Given the description of an element on the screen output the (x, y) to click on. 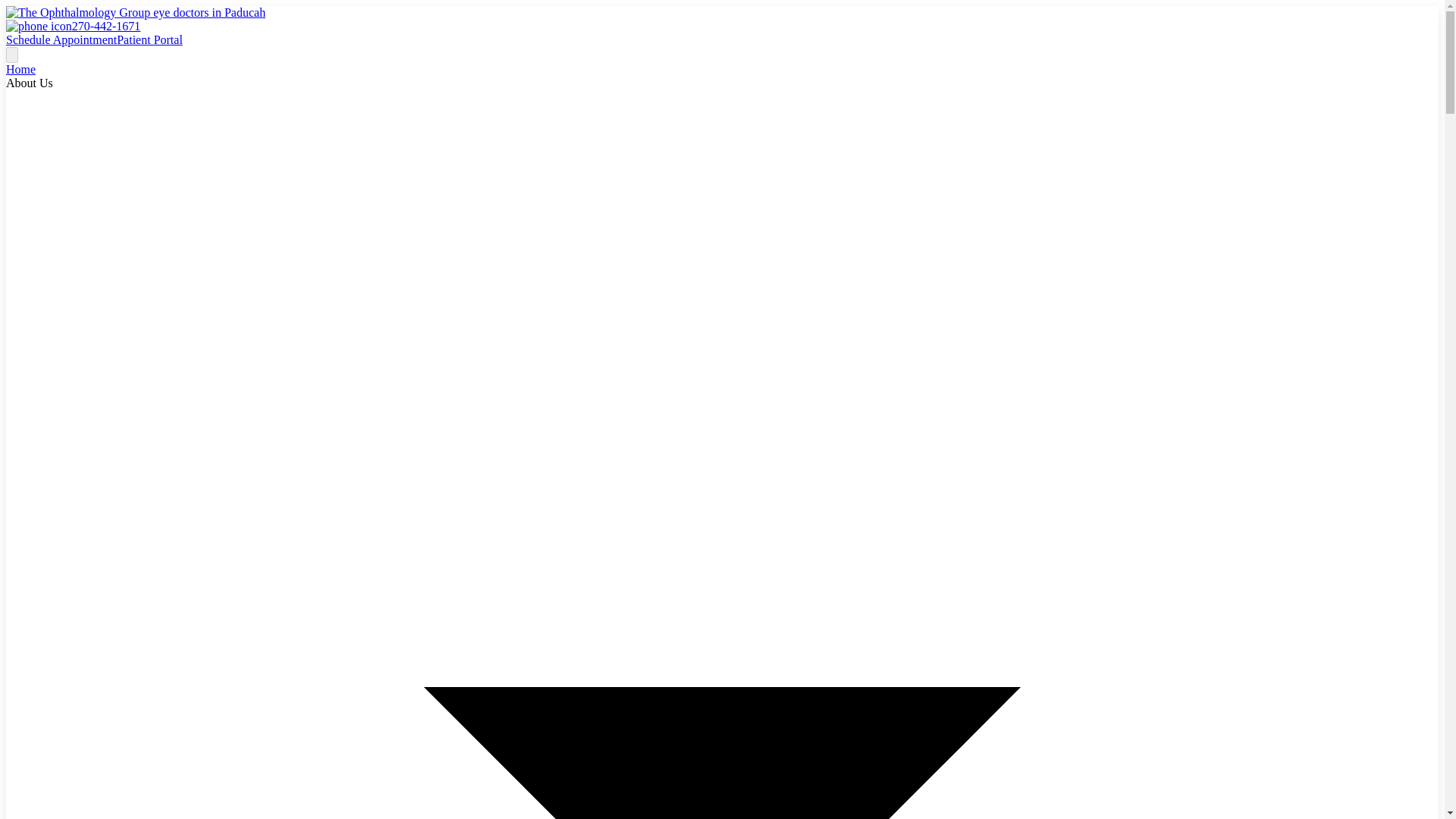
Home (19, 69)
Schedule Appointment (60, 39)
270-442-1671 (72, 25)
Patient Portal (149, 39)
